Given the description of an element on the screen output the (x, y) to click on. 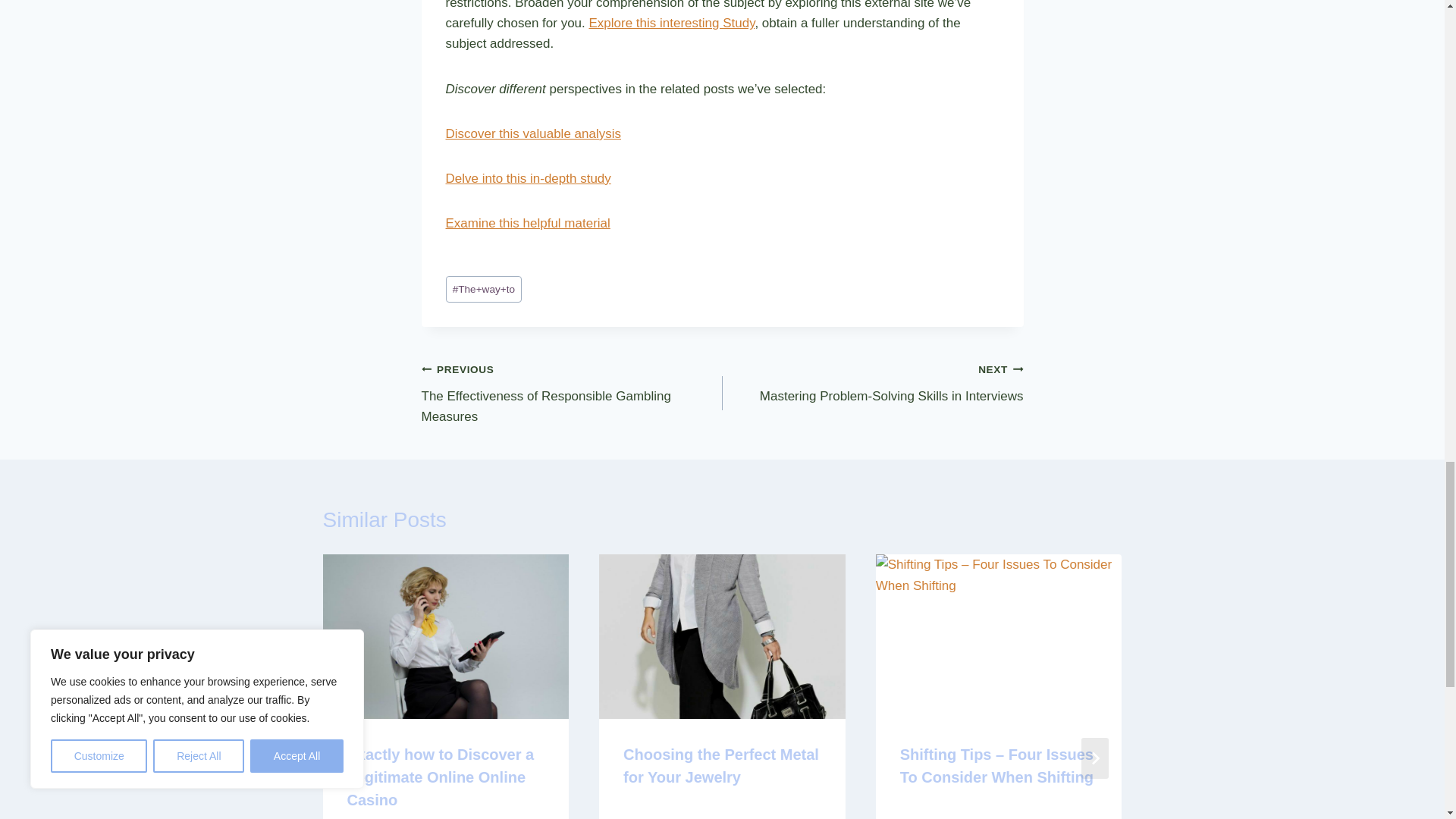
Discover this valuable analysis (533, 133)
Examine this helpful material (527, 223)
Delve into this in-depth study (528, 178)
Explore this interesting Study (572, 392)
